Given the description of an element on the screen output the (x, y) to click on. 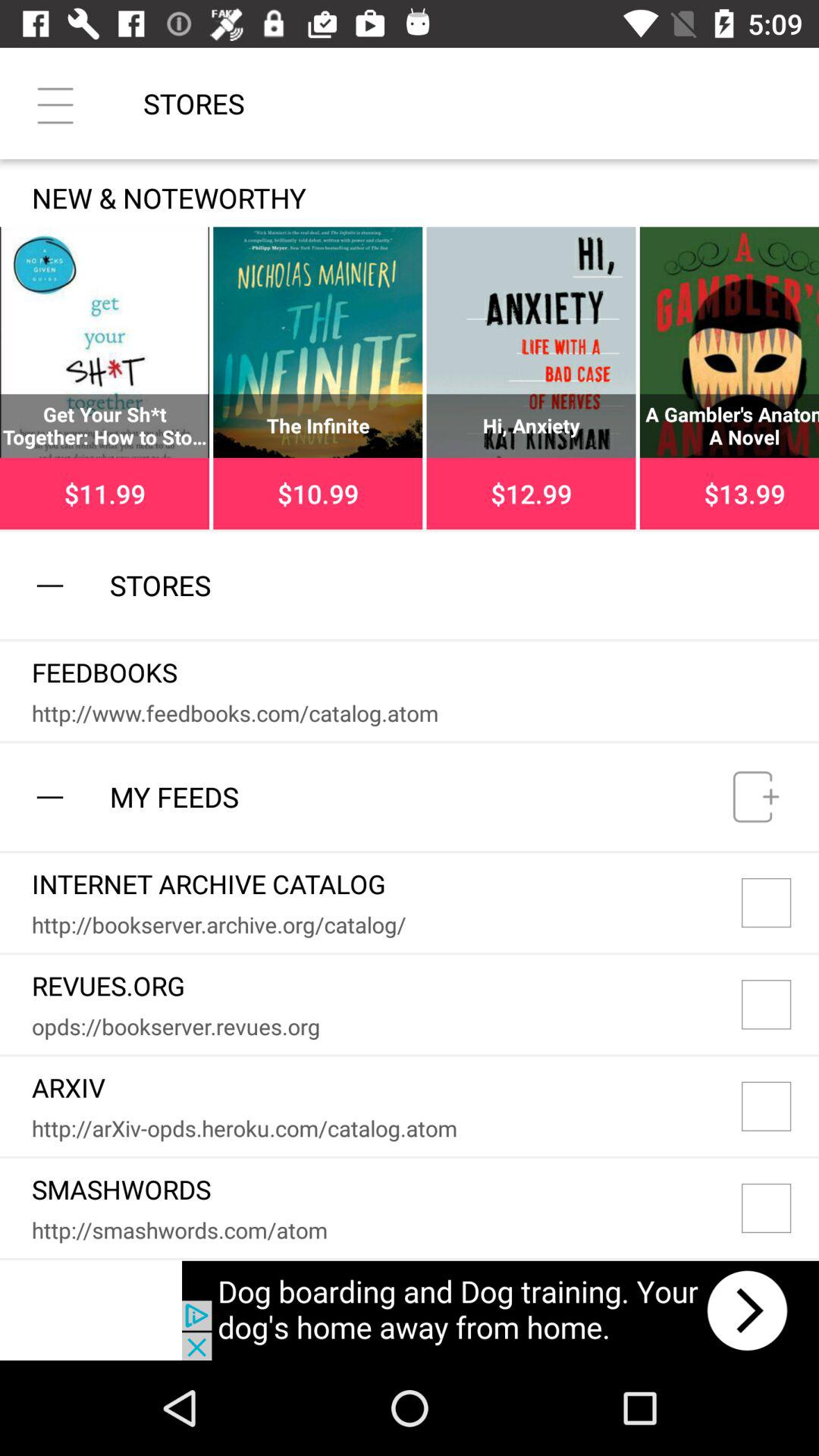
check the box (780, 902)
